Given the description of an element on the screen output the (x, y) to click on. 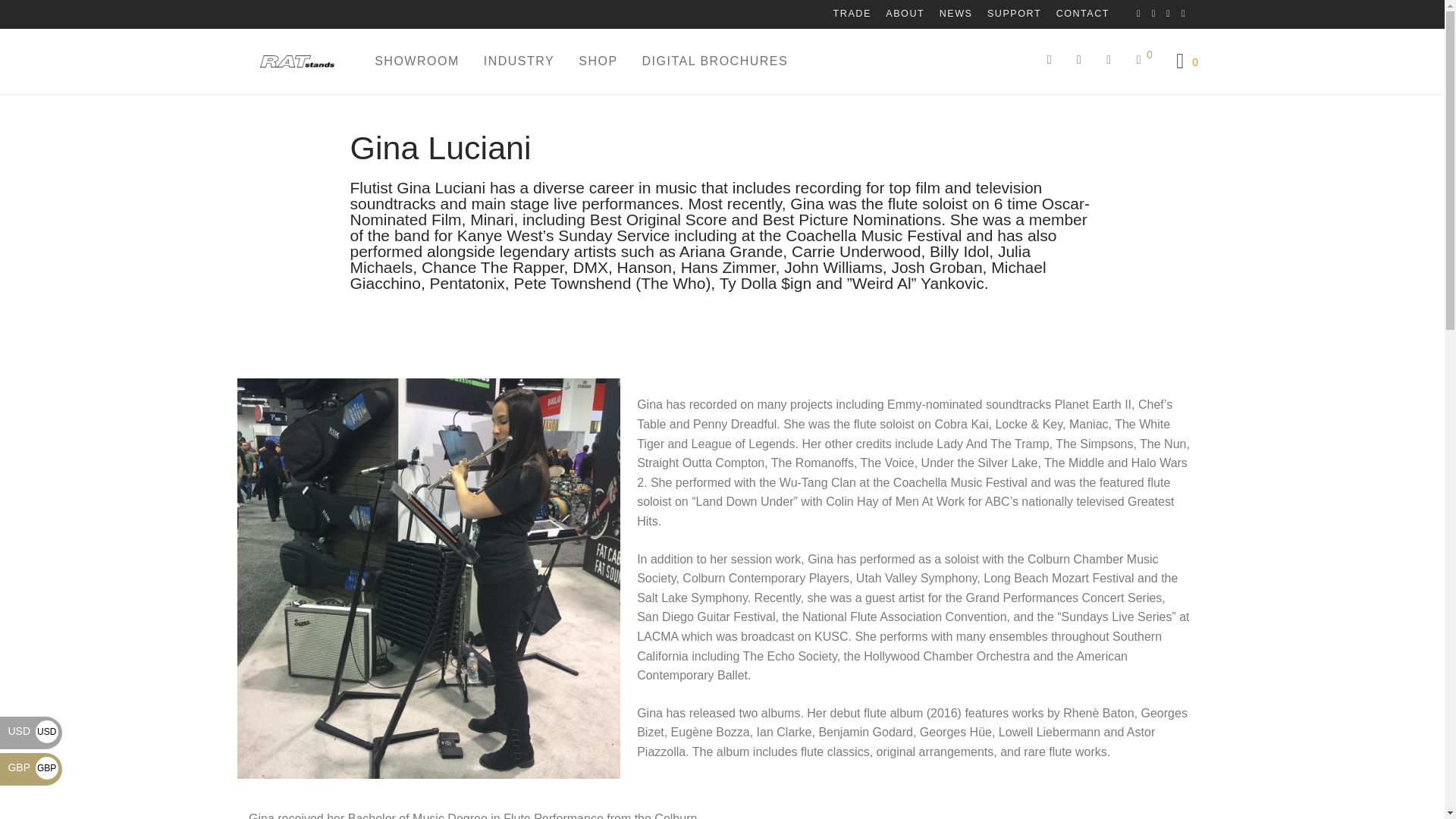
TRADE (852, 13)
SHOWROOM (416, 61)
INDUSTRY (519, 61)
SUPPORT (1013, 13)
ABOUT (904, 13)
SHOP (597, 61)
0 (1145, 59)
CONTACT (1078, 13)
DIGITAL BROCHURES (715, 61)
NEWS (955, 13)
